Given the description of an element on the screen output the (x, y) to click on. 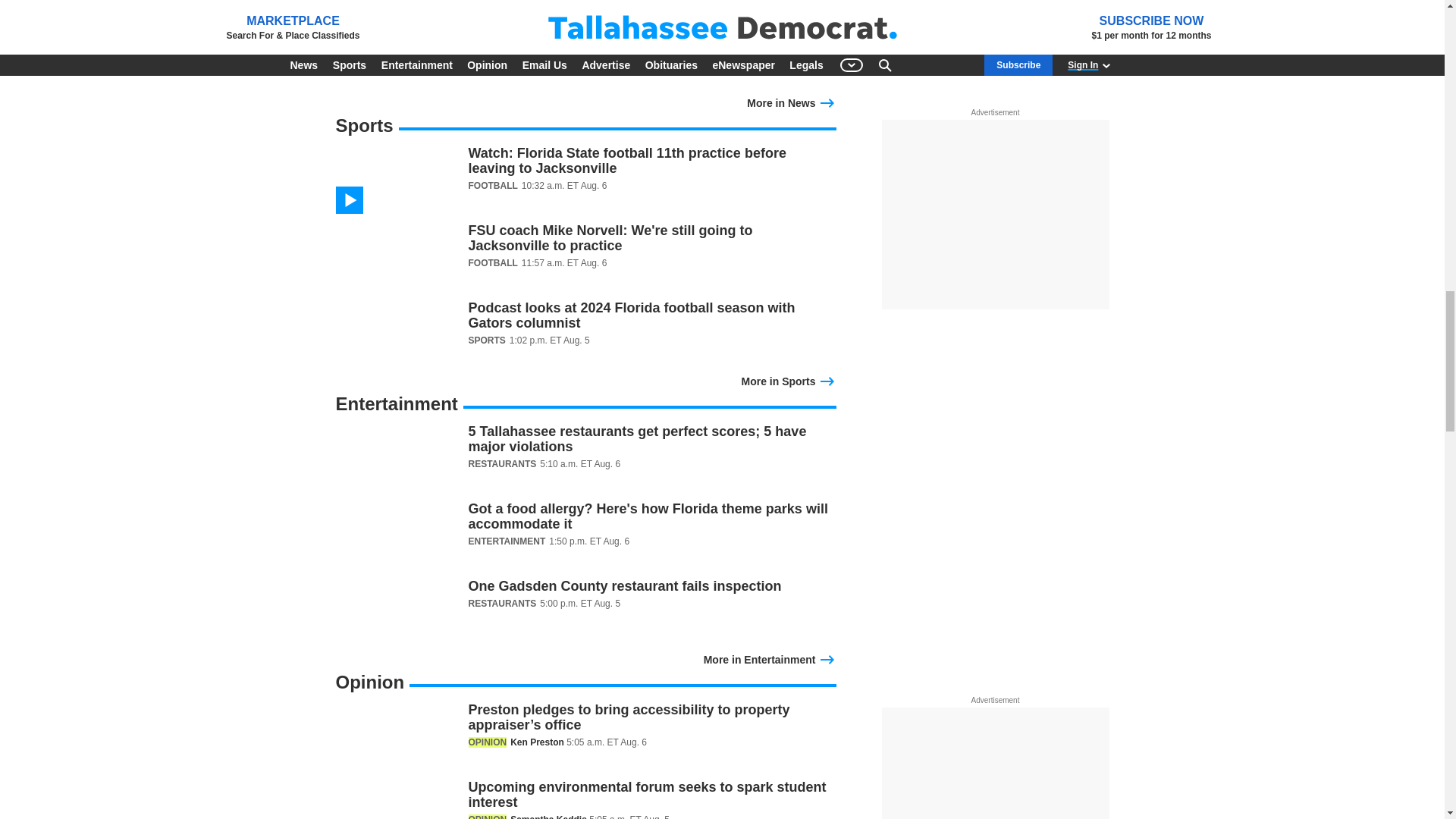
More in Sports (788, 379)
One Gadsden County restaurant fails inspection  (584, 612)
More in News (790, 101)
